Given the description of an element on the screen output the (x, y) to click on. 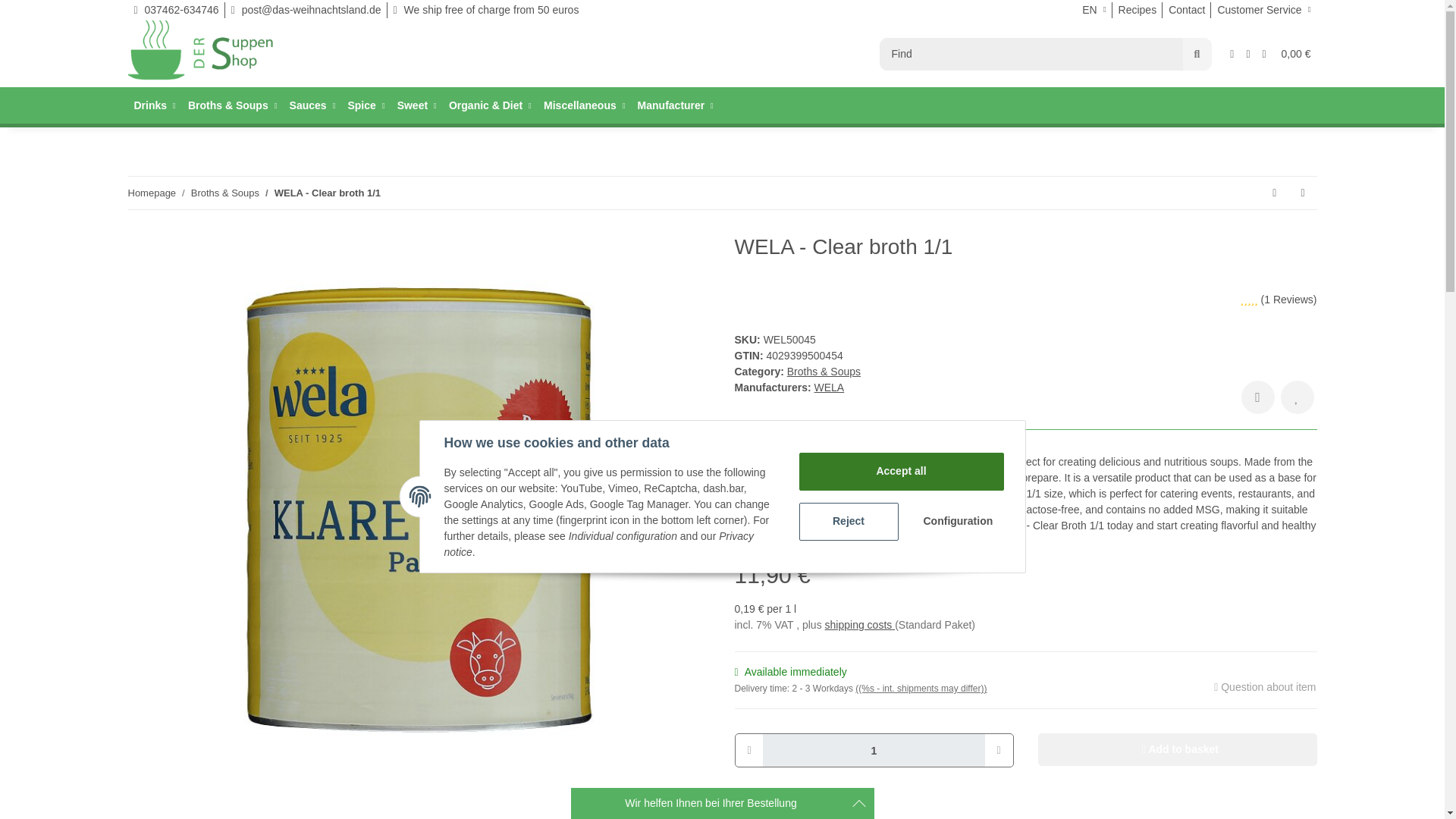
EN (1093, 12)
Our Recipes (1137, 12)
Sauces (312, 106)
Customer Service (1263, 12)
Drinks (154, 106)
Drinks (154, 106)
Contact-Form (1186, 12)
037462-634746 (176, 12)
Unser Kundenservice (1263, 12)
1 (873, 749)
